Given the description of an element on the screen output the (x, y) to click on. 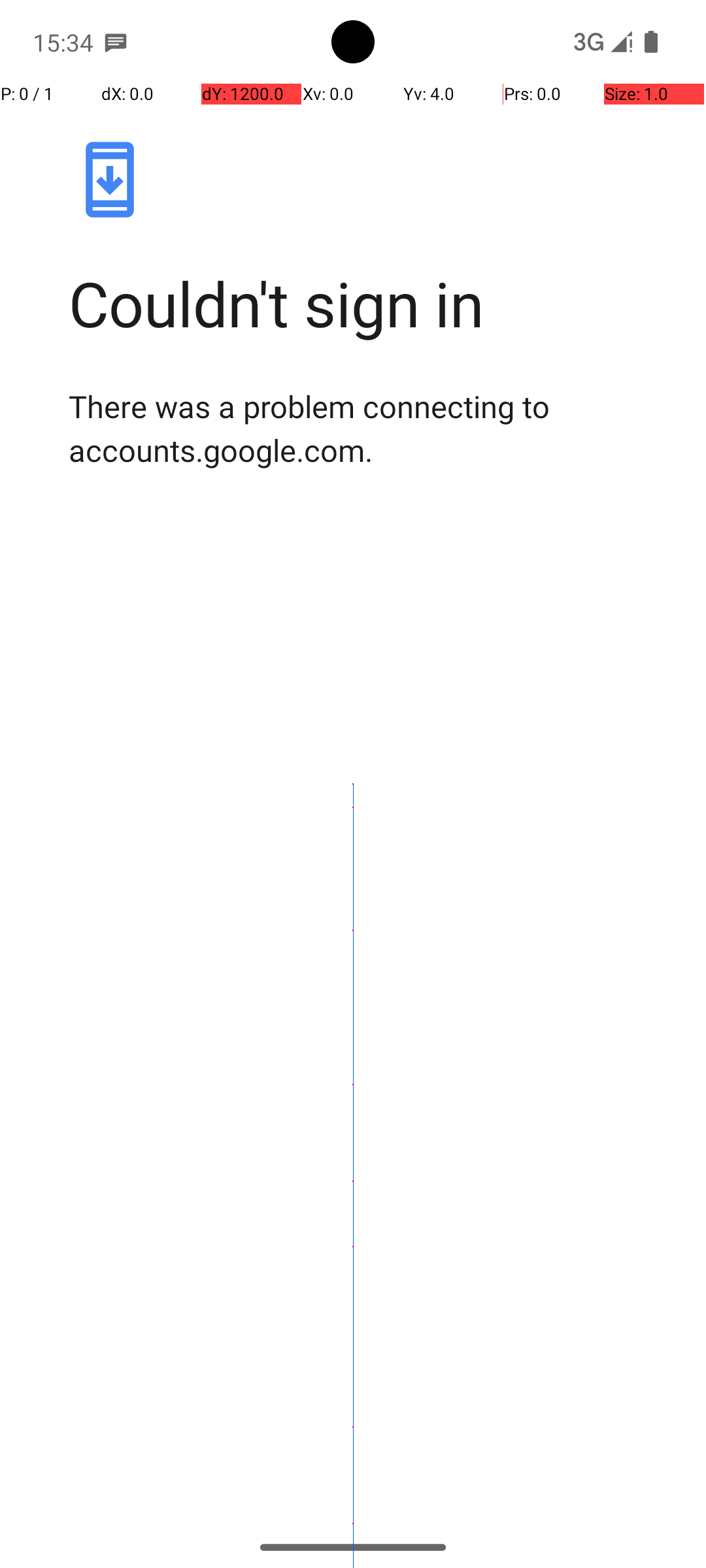
Couldn't sign in Element type: android.widget.TextView (366, 302)
There was a problem connecting to accounts.google.com. Element type: android.widget.TextView (366, 427)
